Given the description of an element on the screen output the (x, y) to click on. 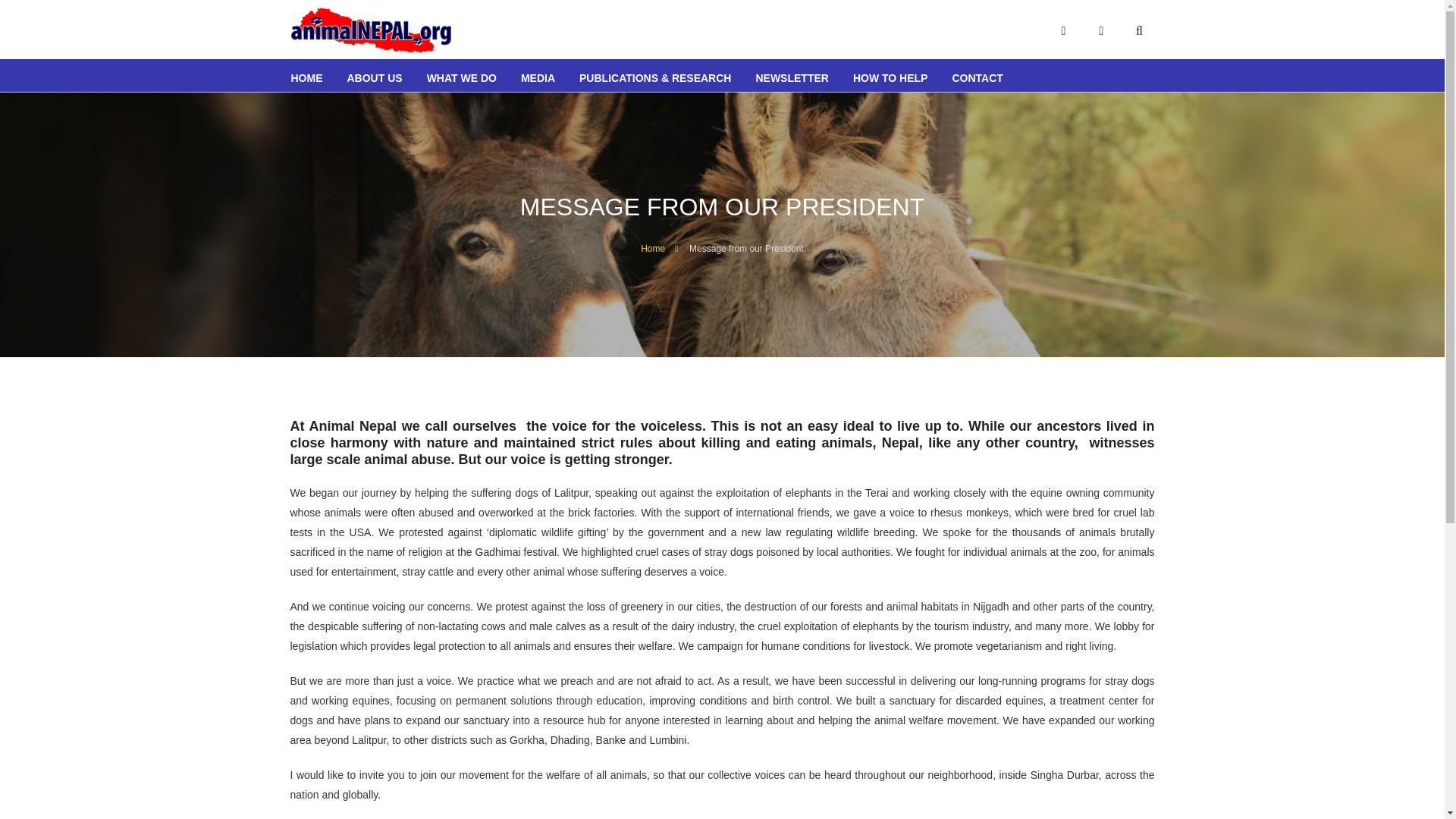
ABOUT US (374, 74)
HOME (306, 74)
WHAT WE DO (461, 74)
